Given the description of an element on the screen output the (x, y) to click on. 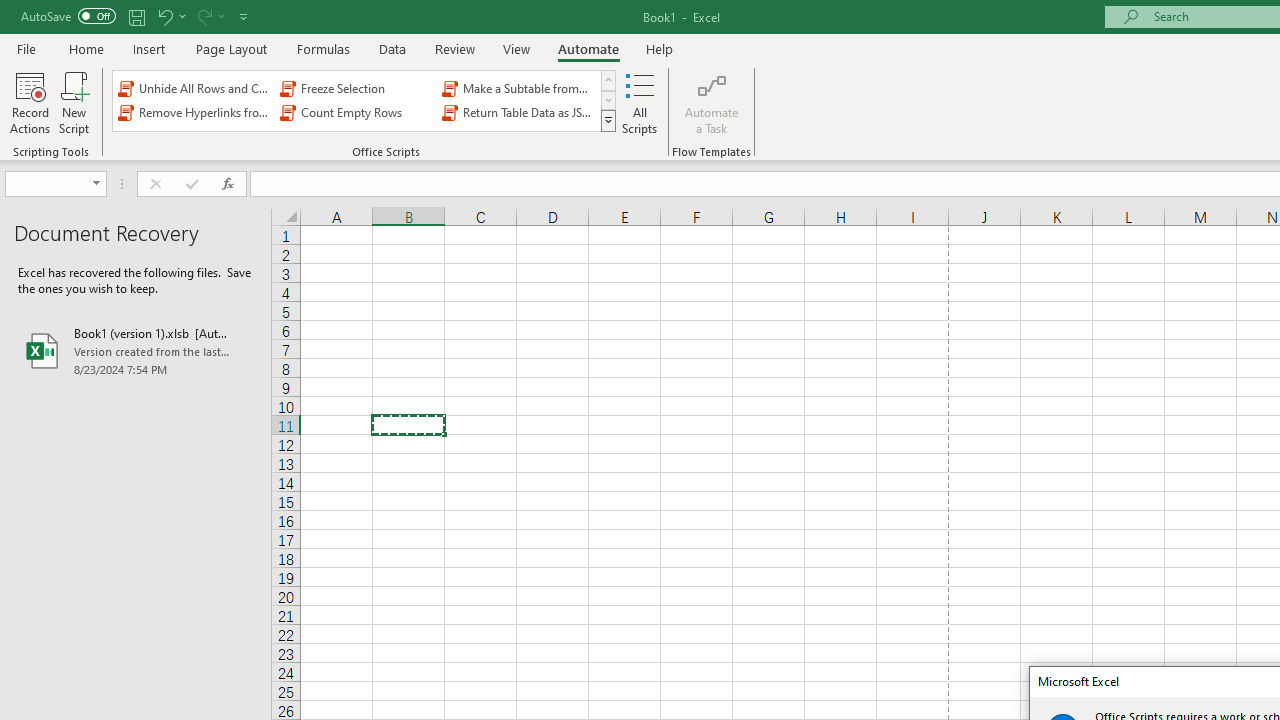
Data (392, 48)
Book1 (version 1).xlsb  [AutoRecovered] (136, 350)
View (517, 48)
New Script (73, 102)
Insert (149, 48)
All Scripts (639, 102)
Make a Subtable from a Selection (518, 88)
Automate (588, 48)
Quick Access Toolbar (136, 16)
Class: NetUIImage (609, 120)
Row up (608, 79)
